Given the description of an element on the screen output the (x, y) to click on. 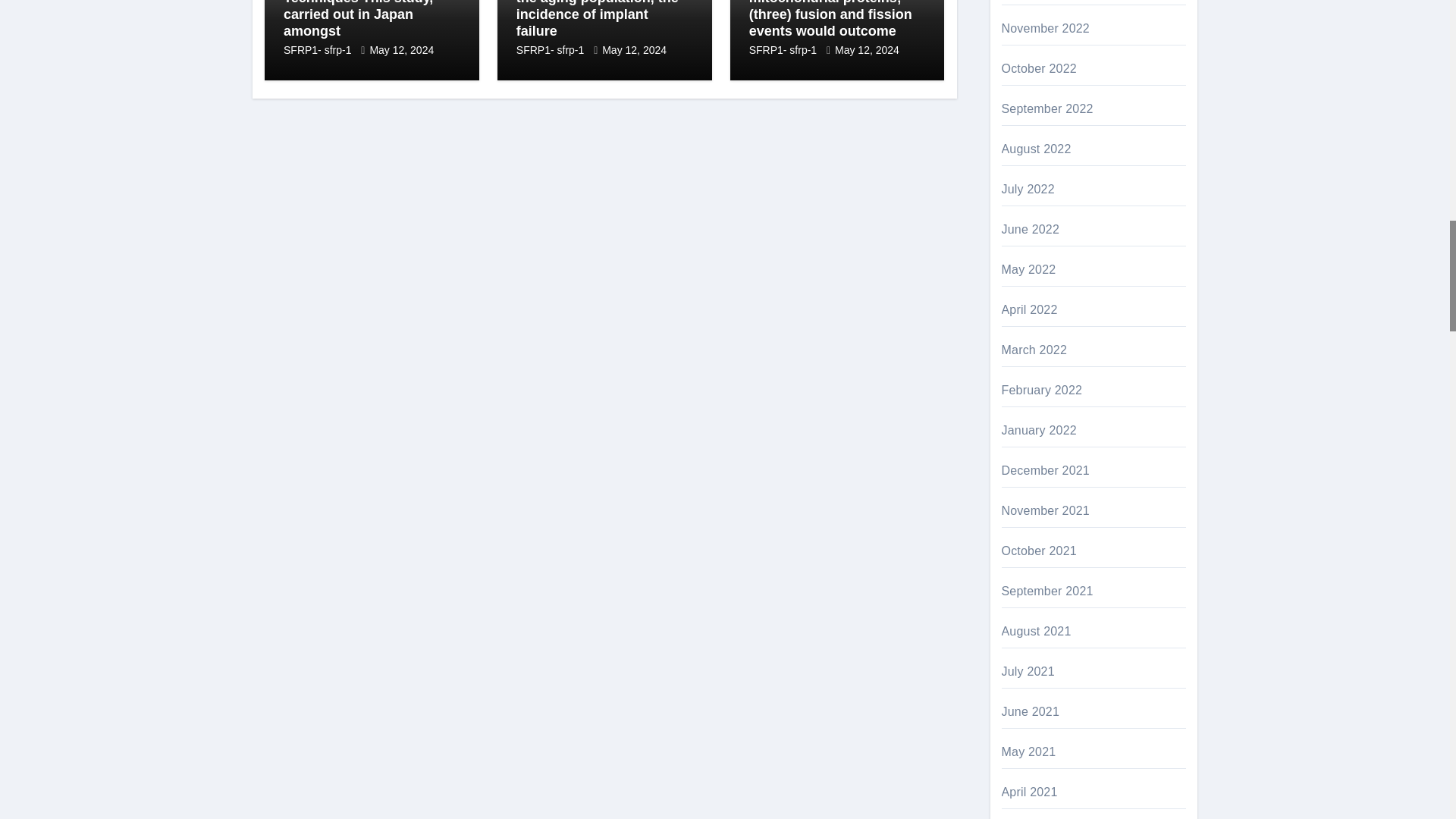
May 12, 2024 (401, 50)
SFRP1- sfrp-1 (318, 50)
